Given the description of an element on the screen output the (x, y) to click on. 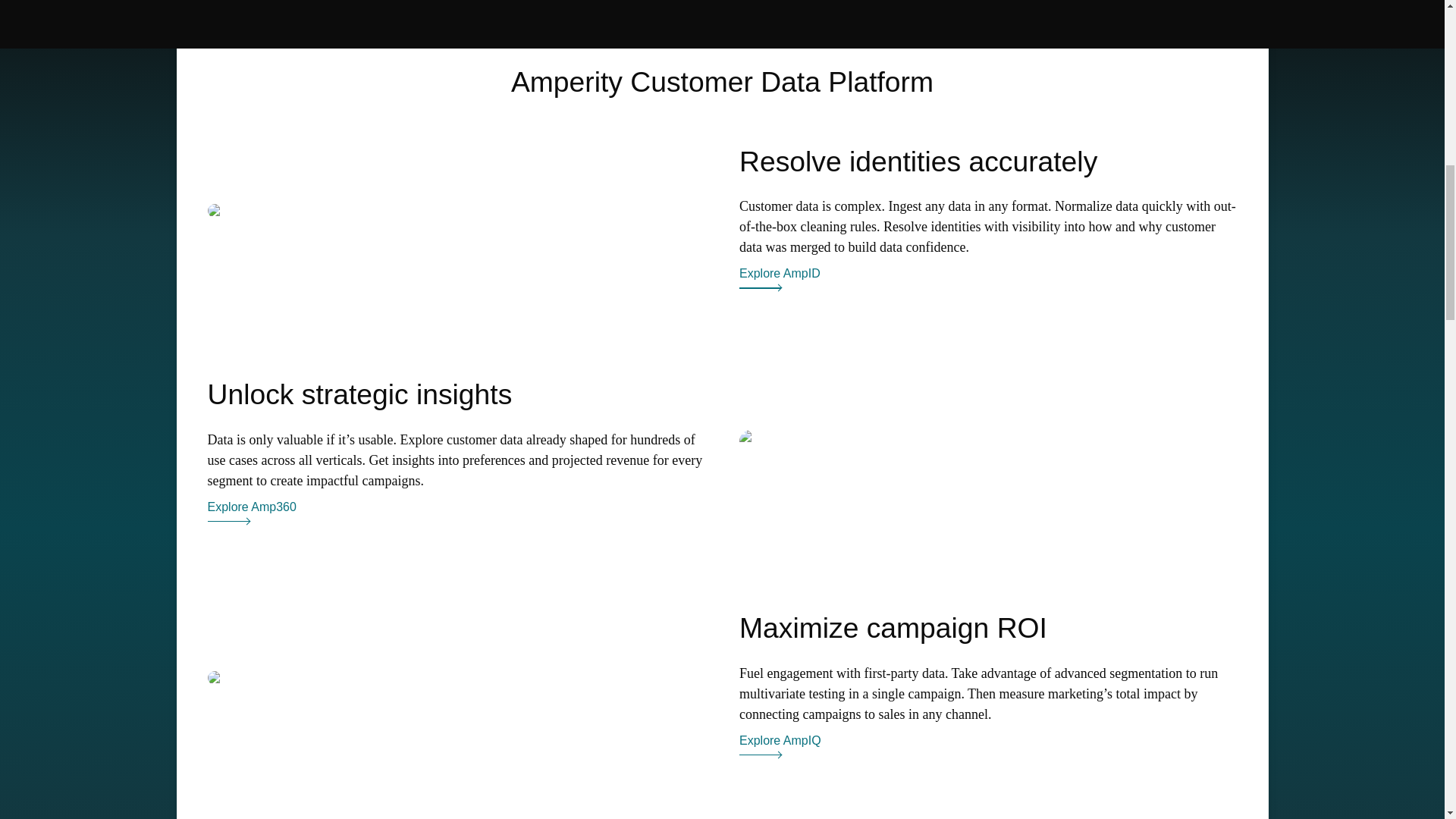
Explore Amp360 (252, 506)
Explore Amp360 (252, 510)
Explore AmpIQ (780, 739)
Explore AmpID (780, 277)
Explore AmpIQ (780, 744)
Explore AmpID (780, 272)
